Given the description of an element on the screen output the (x, y) to click on. 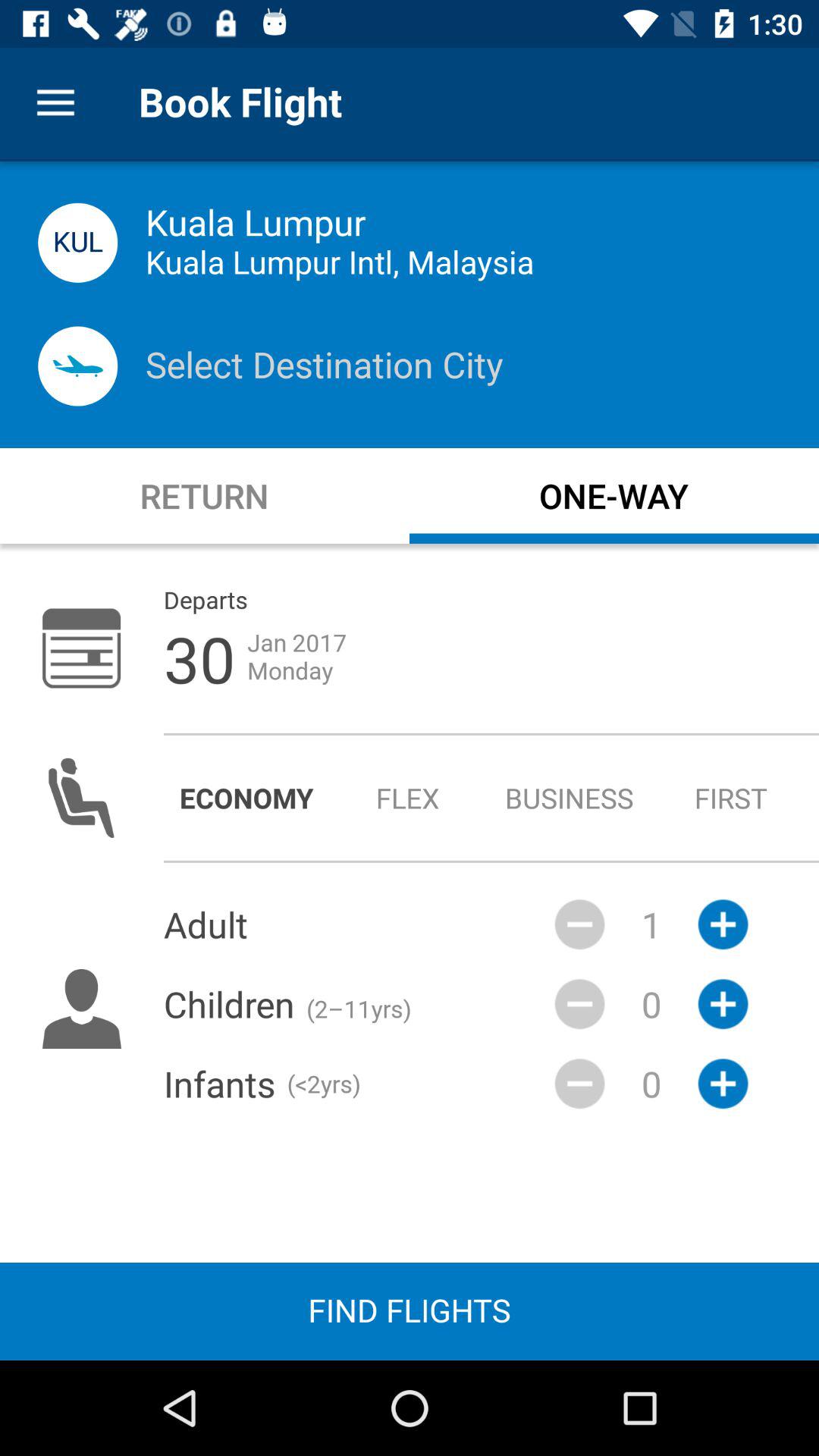
jump until economy icon (246, 797)
